Given the description of an element on the screen output the (x, y) to click on. 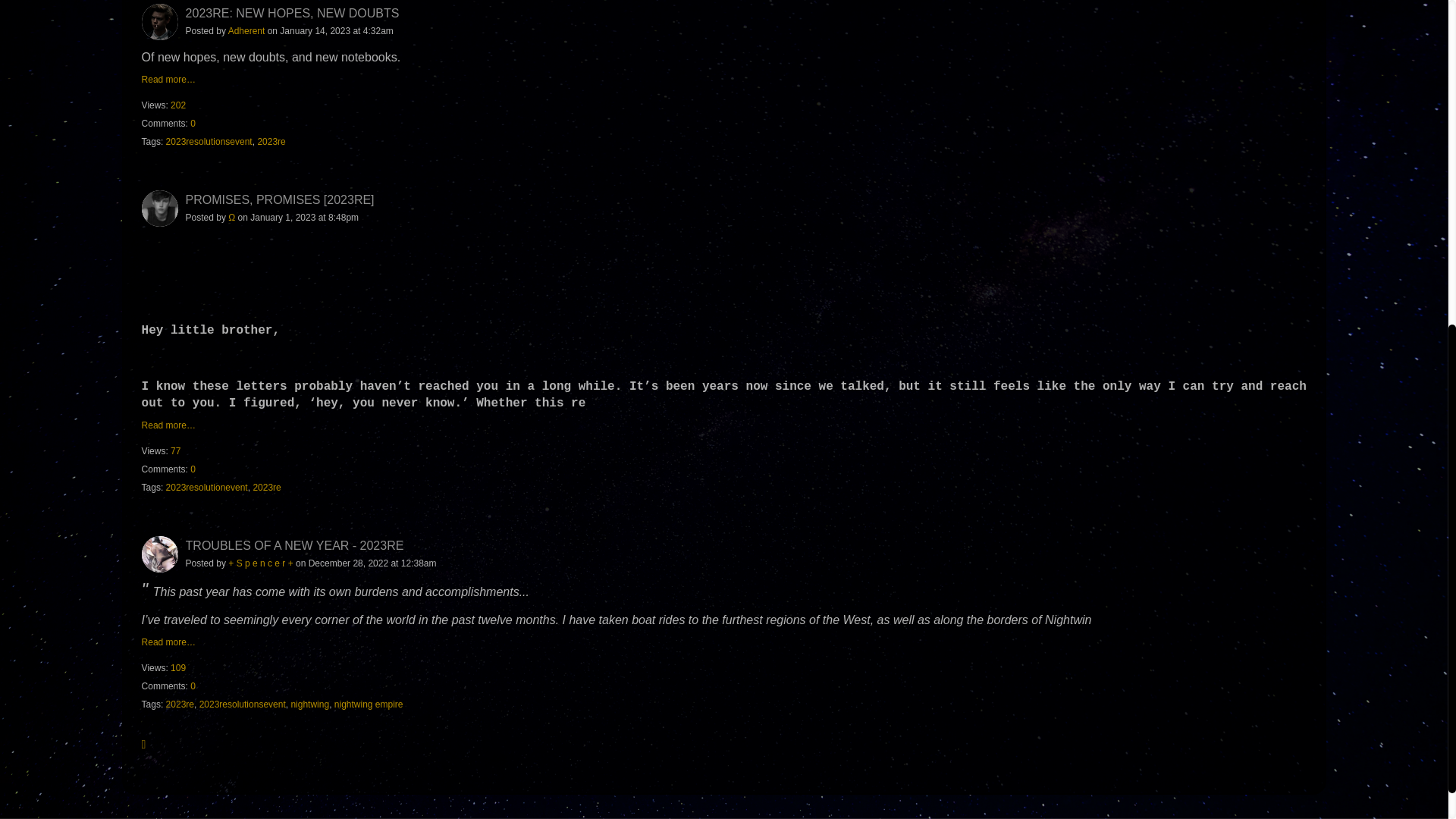
2023resolutionevent (206, 487)
109 (178, 667)
77 (175, 450)
2023re (271, 141)
2023re (179, 704)
RSS (147, 743)
2023re (266, 487)
2023resolutionsevent (242, 704)
Adherent (246, 30)
2023RE: NEW HOPES, NEW DOUBTS (292, 12)
202 (178, 104)
2023resolutionsevent (208, 141)
TROUBLES OF A NEW YEAR - 2023RE (295, 545)
